Given the description of an element on the screen output the (x, y) to click on. 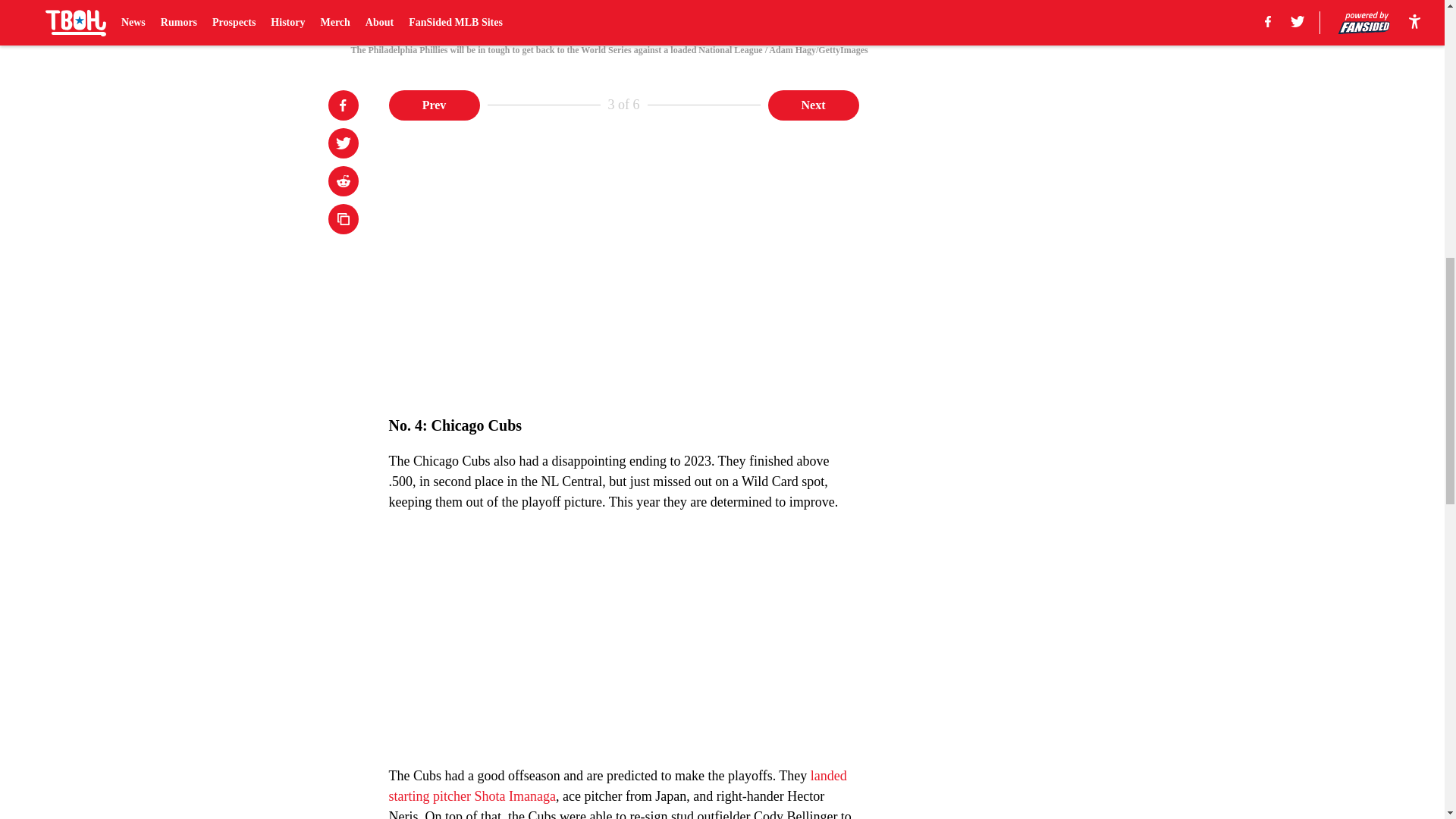
Prev (433, 104)
landed starting pitcher Shota Imanaga (616, 785)
Next (813, 104)
